Given the description of an element on the screen output the (x, y) to click on. 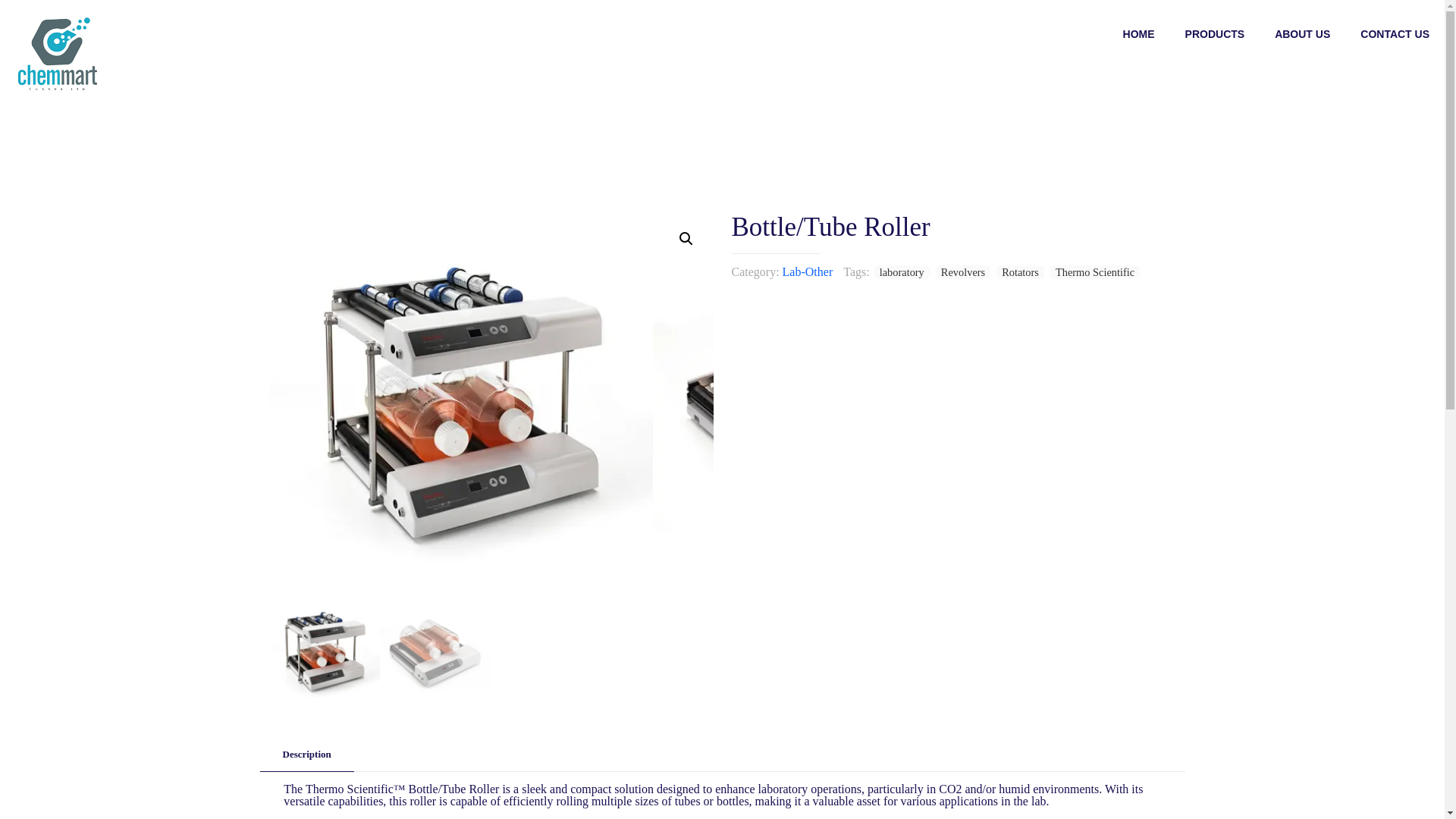
HOME (1139, 33)
ABOUT US (1302, 33)
PRODUCTS (1215, 33)
